Given the description of an element on the screen output the (x, y) to click on. 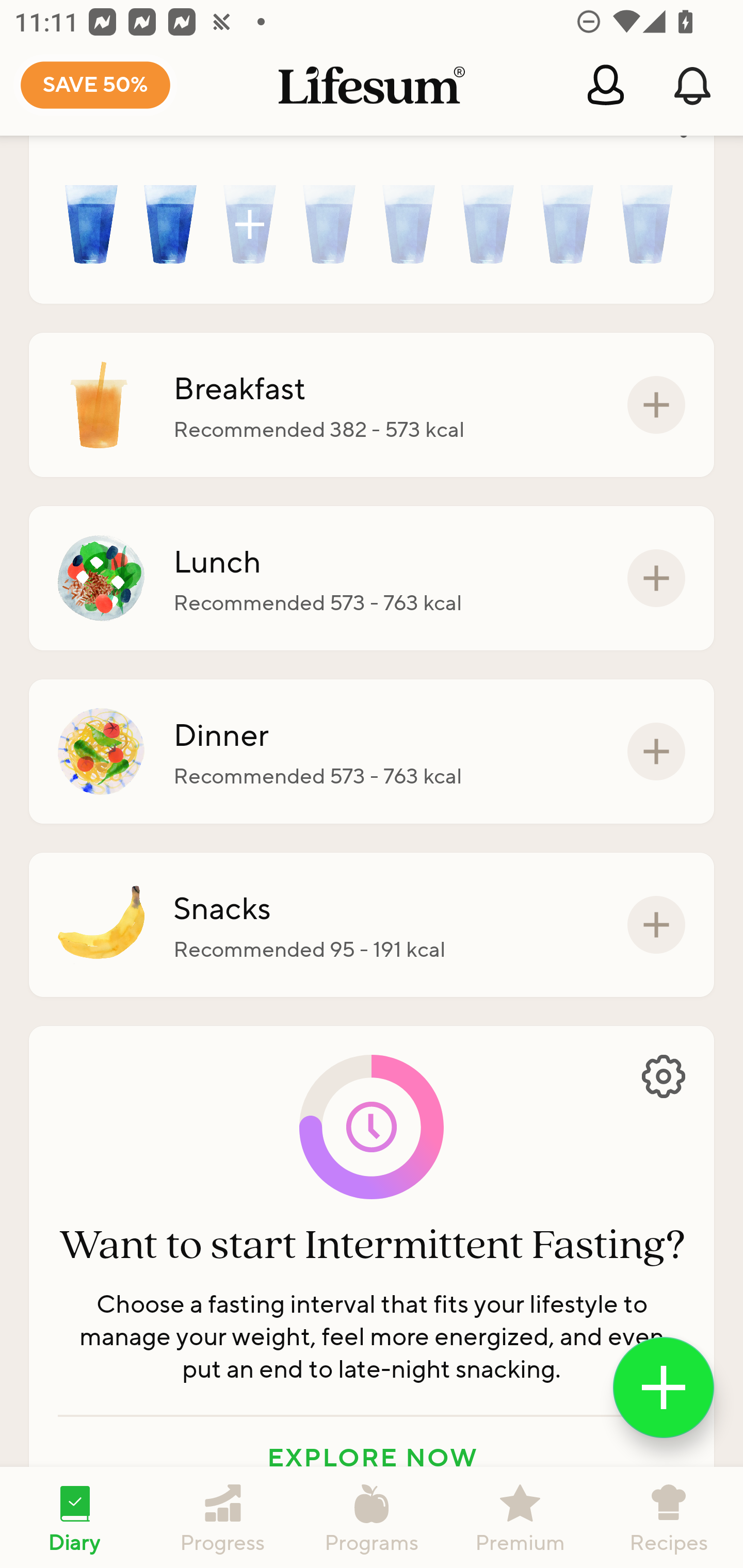
Breakfast Recommended 382 - 573 kcal (371, 404)
Lunch Recommended 573 - 763 kcal (371, 578)
Dinner Recommended 573 - 763 kcal (371, 750)
Snacks Recommended 95 - 191 kcal (371, 924)
EXPLORE NOW (371, 1457)
Progress (222, 1517)
Programs (371, 1517)
Premium (519, 1517)
Recipes (668, 1517)
